Given the description of an element on the screen output the (x, y) to click on. 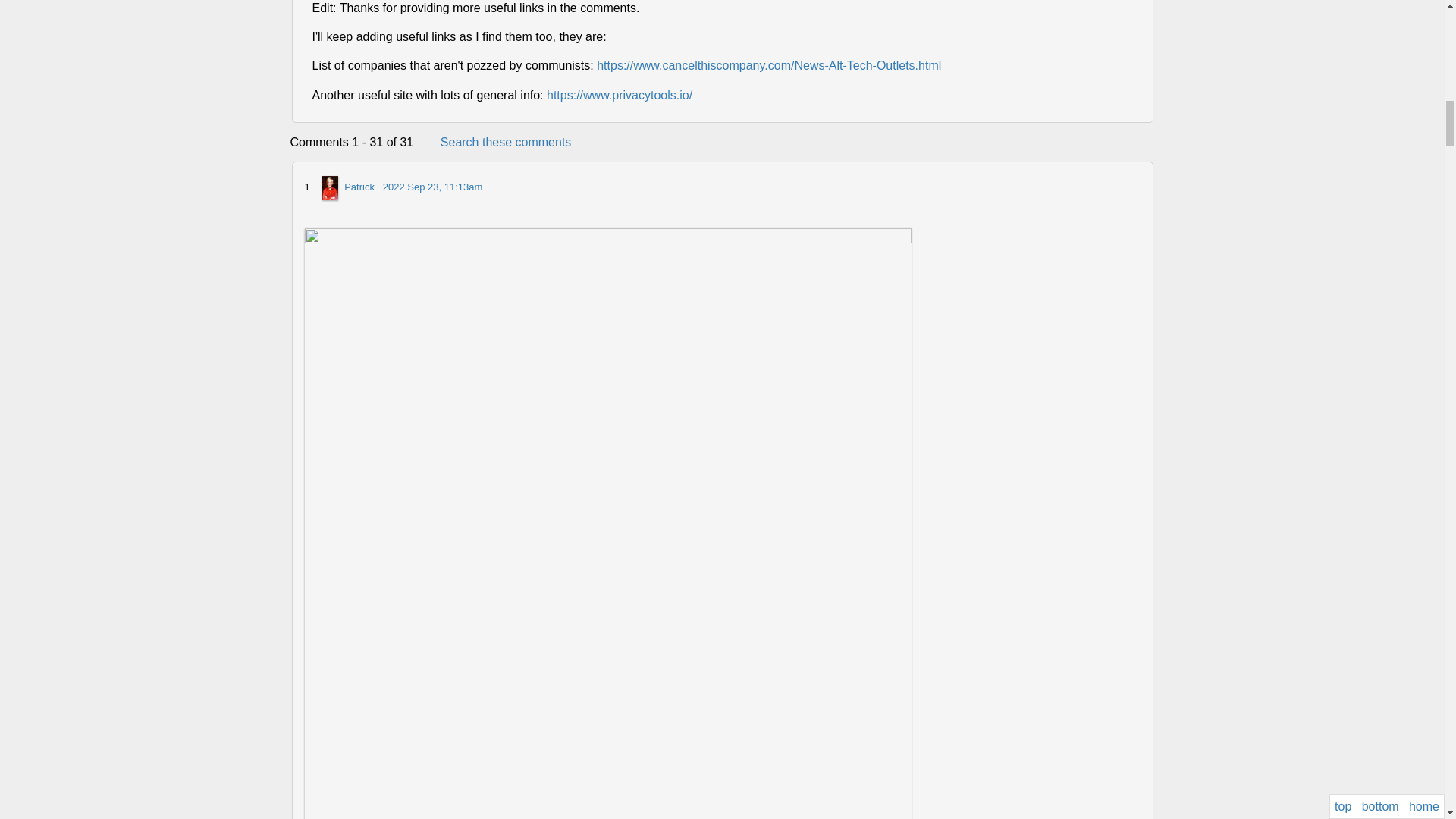
2022 Sep 23, 11:13am (432, 187)
search comments in this thread (506, 141)
Patrick (358, 187)
permalink to this comment (432, 187)
Search these comments (506, 141)
